Given the description of an element on the screen output the (x, y) to click on. 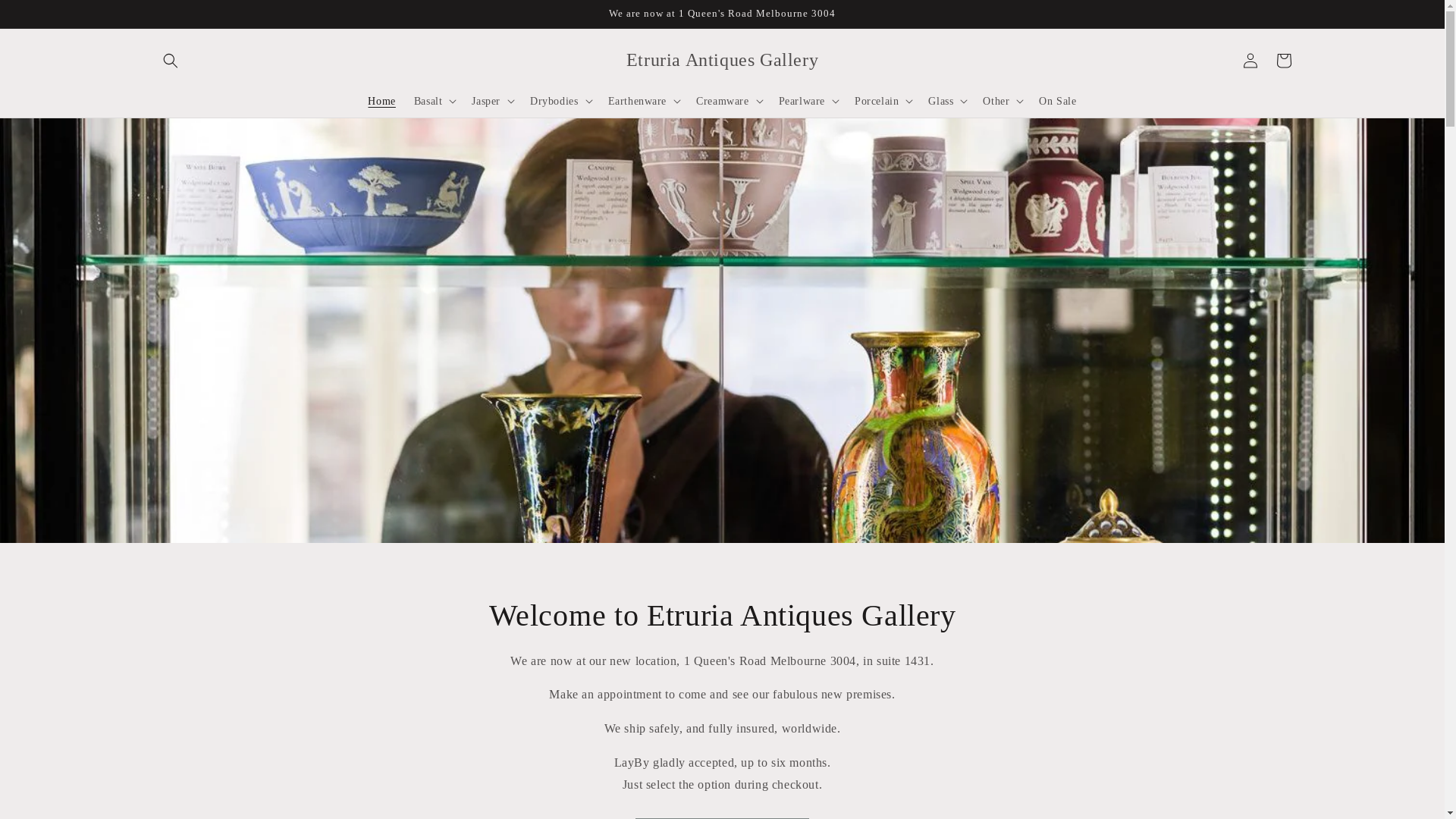
Home Element type: text (381, 100)
Log in Element type: text (1249, 60)
Cart Element type: text (1282, 60)
On Sale Element type: text (1057, 100)
Etruria Antiques Gallery Element type: text (721, 60)
